Given the description of an element on the screen output the (x, y) to click on. 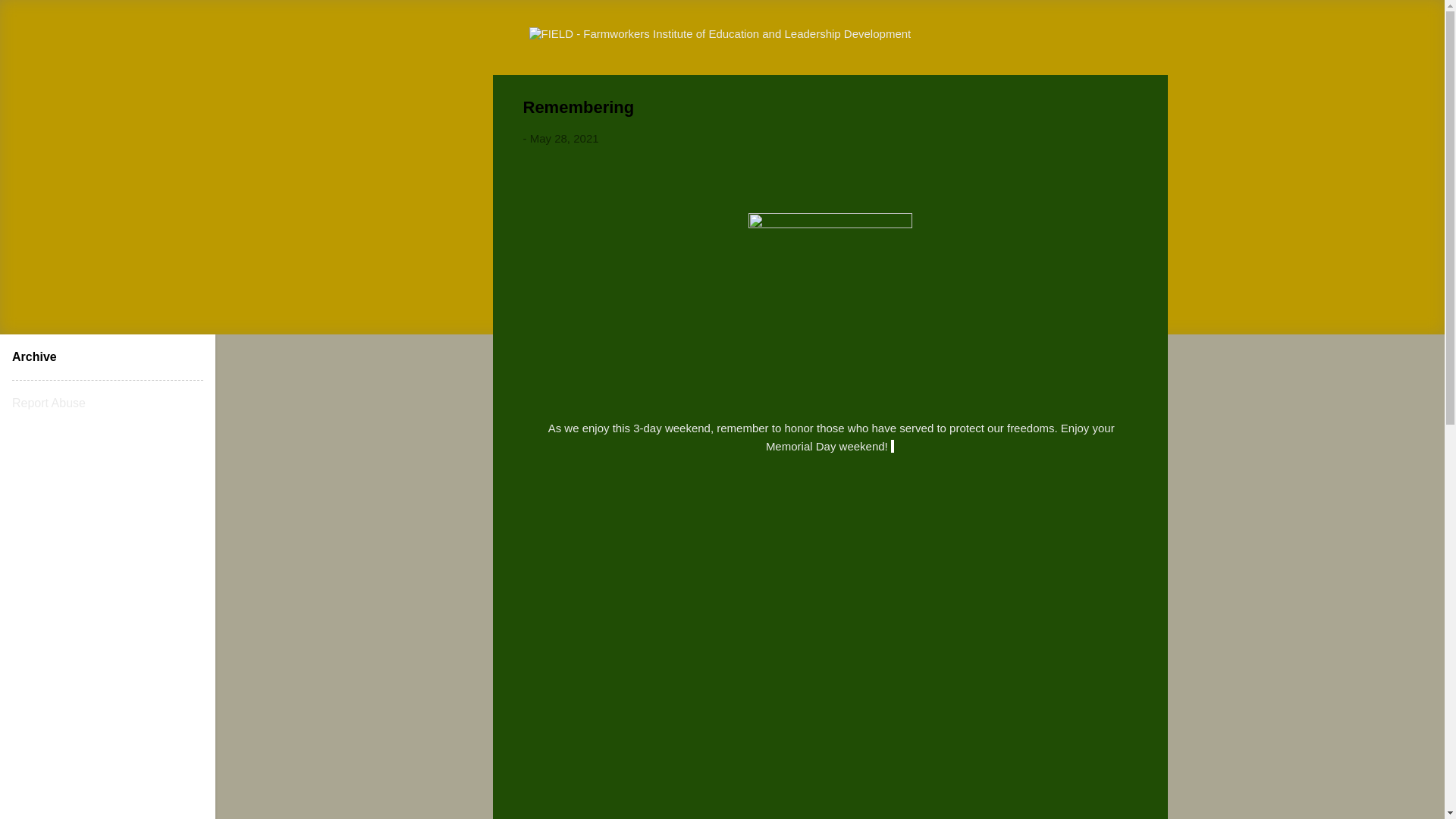
May 28, 2021 (563, 137)
Search (29, 18)
permanent link (563, 137)
